Given the description of an element on the screen output the (x, y) to click on. 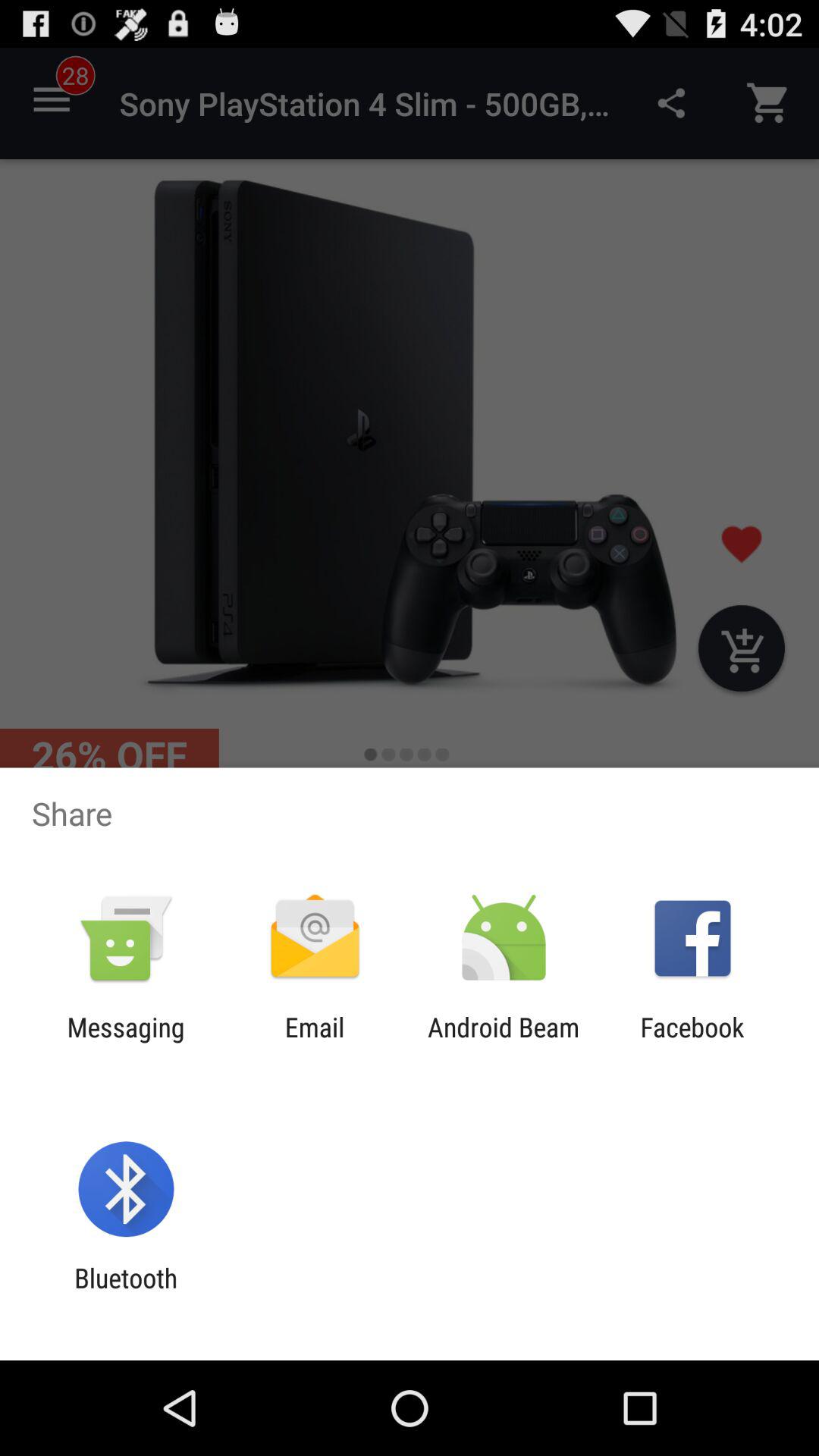
swipe to email item (314, 1042)
